Given the description of an element on the screen output the (x, y) to click on. 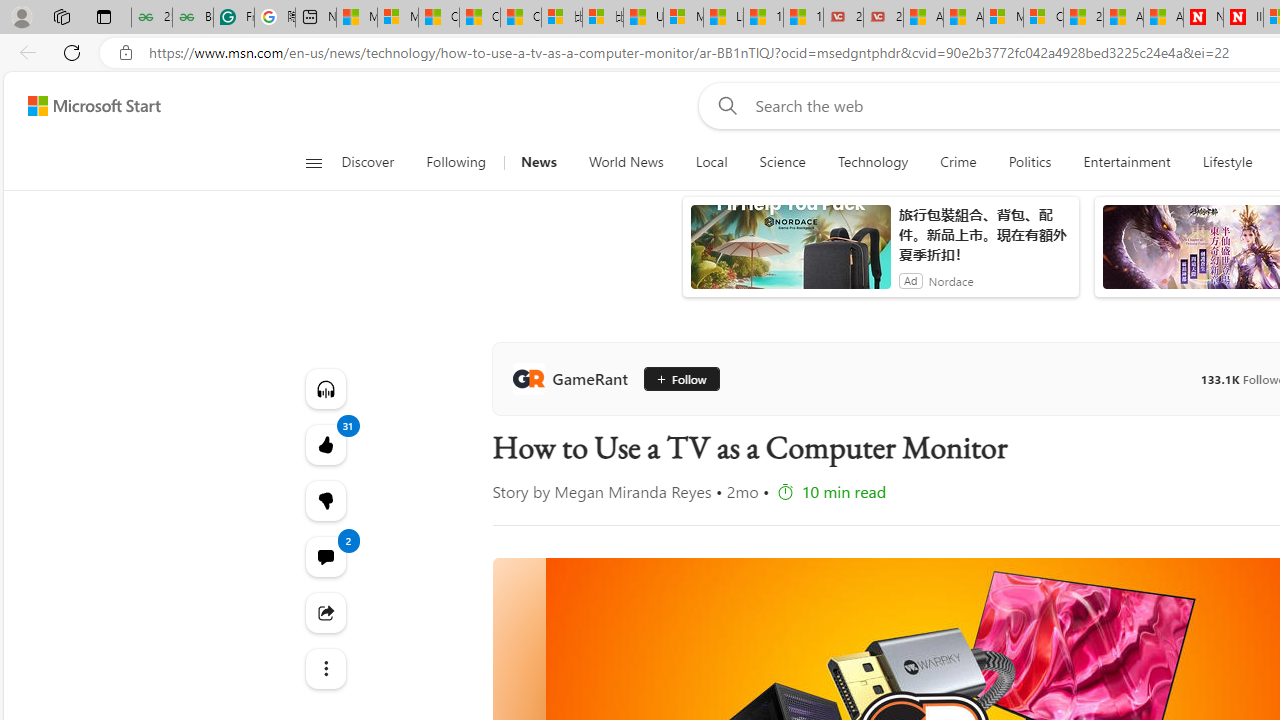
Politics (1030, 162)
Entertainment (1126, 162)
Technology (872, 162)
Listen to this article (324, 388)
Class: at-item (324, 668)
Science (782, 162)
Cloud Computing Services | Microsoft Azure (1043, 17)
Local (710, 162)
